Given the description of an element on the screen output the (x, y) to click on. 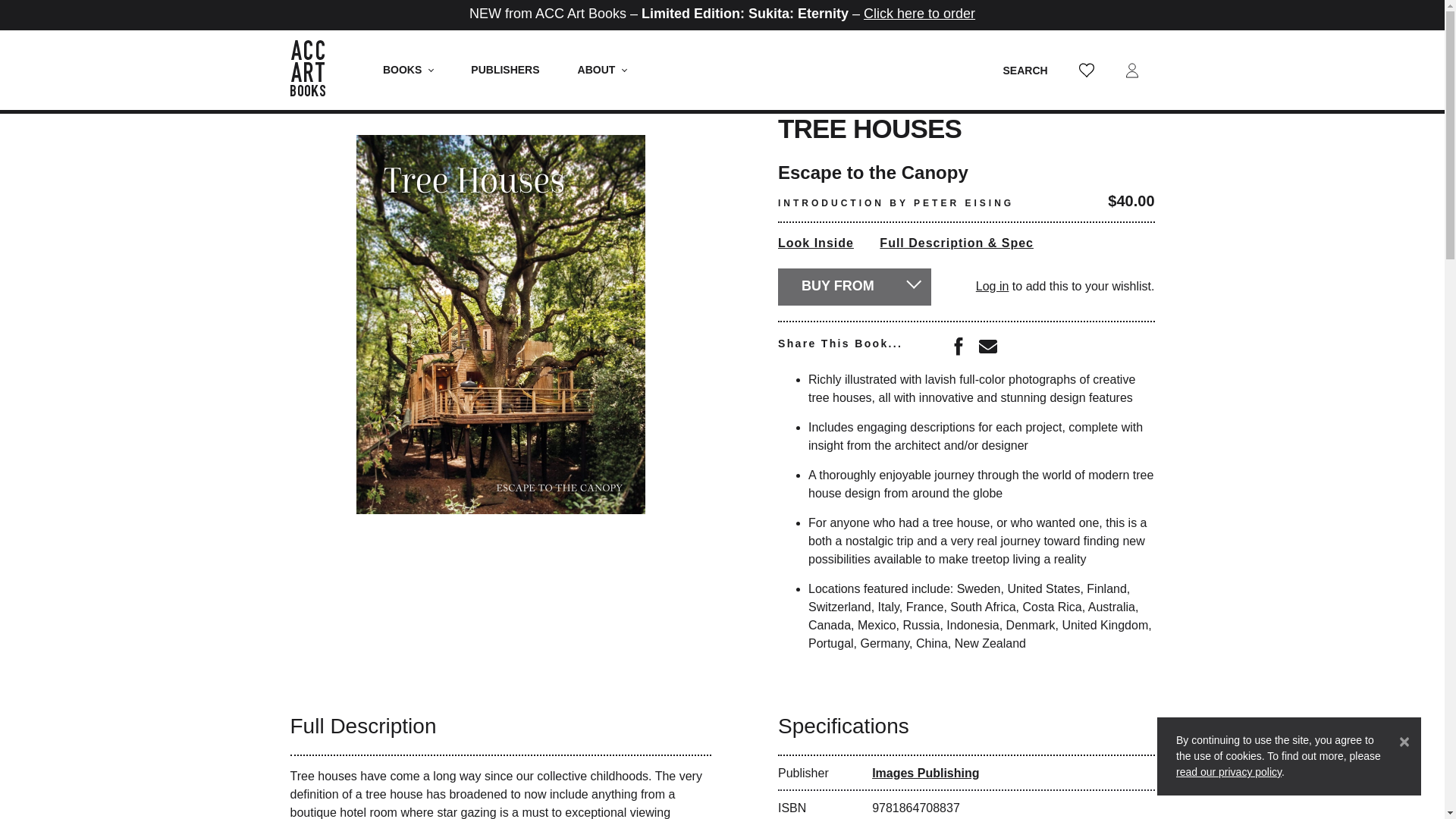
PUBLISHERS (504, 69)
BOOKS (407, 69)
ABOUT (602, 69)
Click here to order (919, 13)
ACC Art Books US (315, 69)
